Given the description of an element on the screen output the (x, y) to click on. 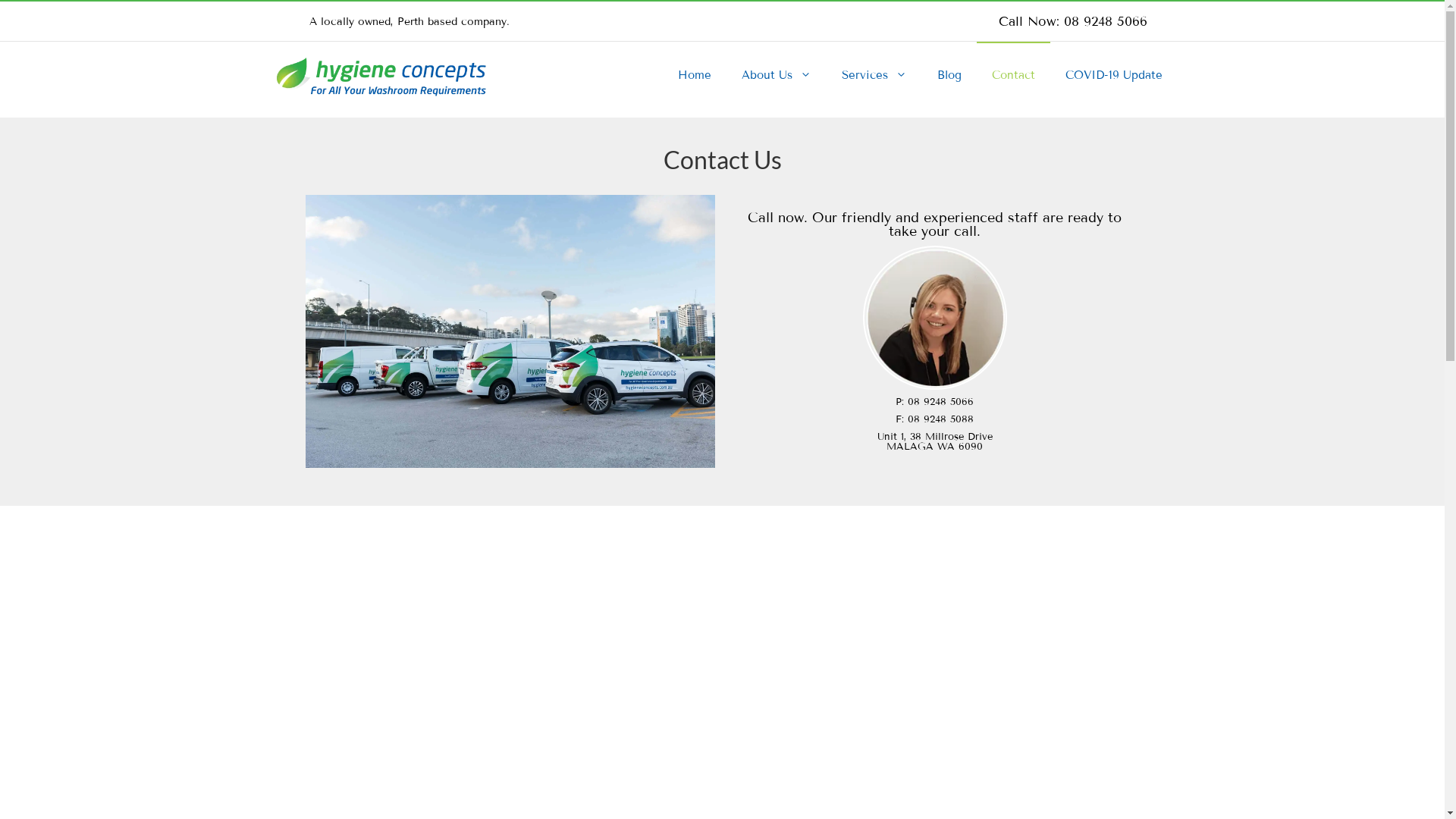
08 9248 5066 Element type: text (1104, 21)
Home Element type: text (694, 75)
Hygiene Concepts Element type: hover (722, 657)
Blog Element type: text (949, 75)
Services Element type: text (874, 75)
COVID-19 Update Element type: text (1112, 75)
Contact Element type: text (1013, 74)
About Us Element type: text (776, 75)
